Given the description of an element on the screen output the (x, y) to click on. 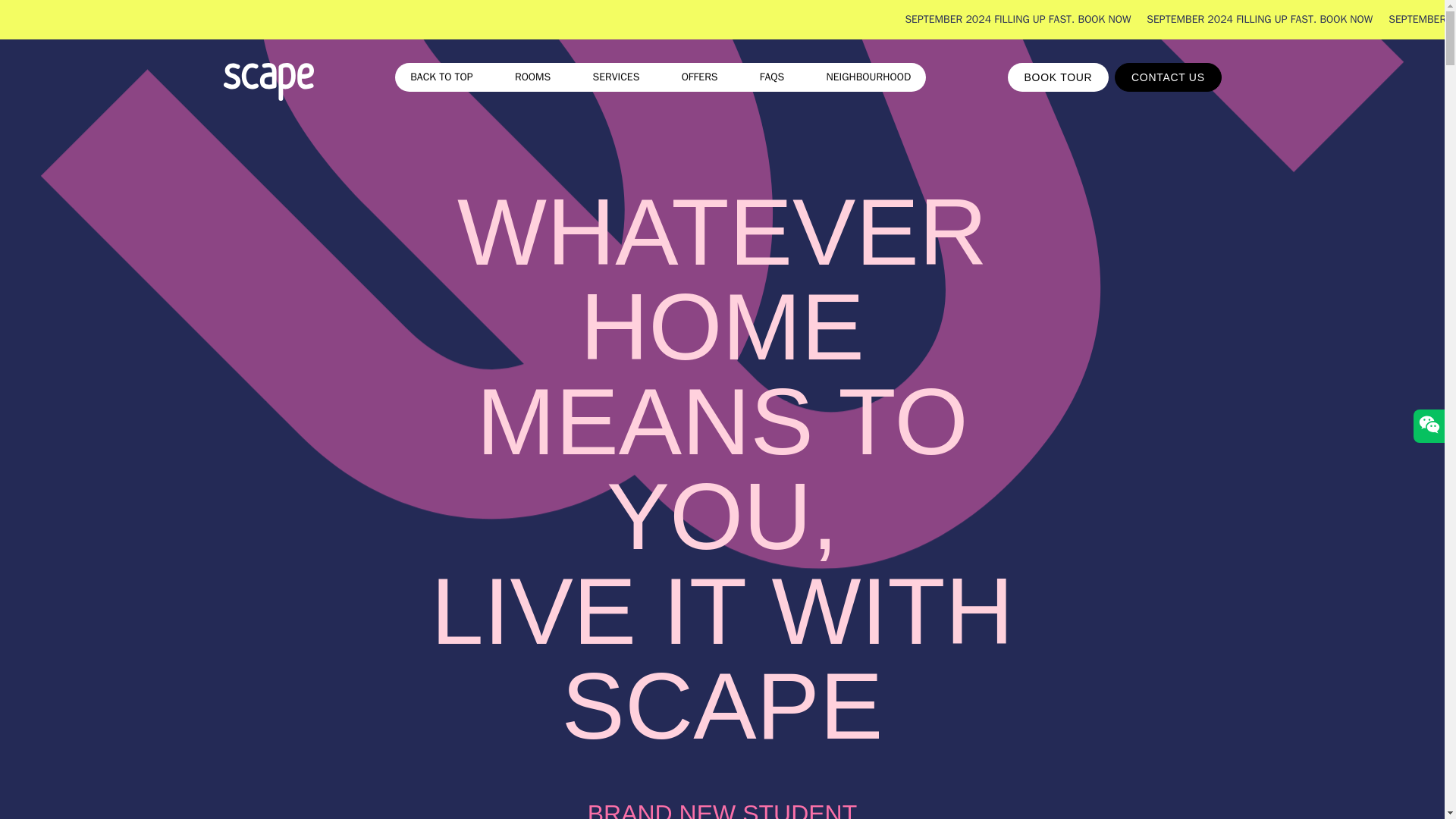
NEIGHBOURHOOD (869, 76)
FAQs (772, 76)
Offers (699, 76)
OFFERS (699, 76)
Rooms (532, 76)
FAQS (772, 76)
Back to top (441, 76)
logo (267, 84)
Neighbourhood (869, 76)
CONTACT US (1168, 77)
